Given the description of an element on the screen output the (x, y) to click on. 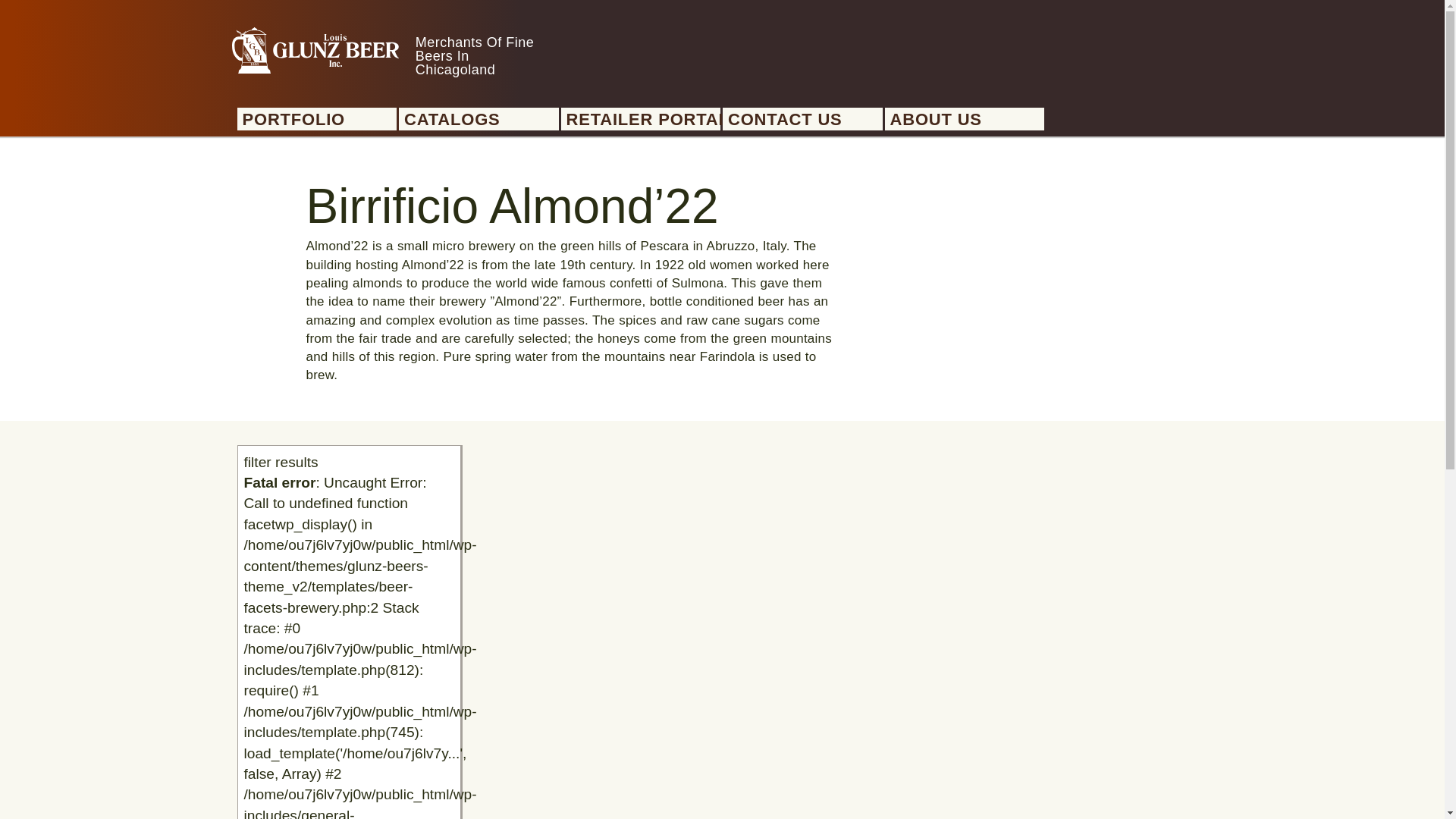
CONTACT US (805, 119)
CATALOGS (481, 119)
ABOUT US (967, 119)
Louis Glunz Beer Inc. (314, 50)
RETAILER PORTAL (643, 119)
PORTFOLIO (320, 119)
